Given the description of an element on the screen output the (x, y) to click on. 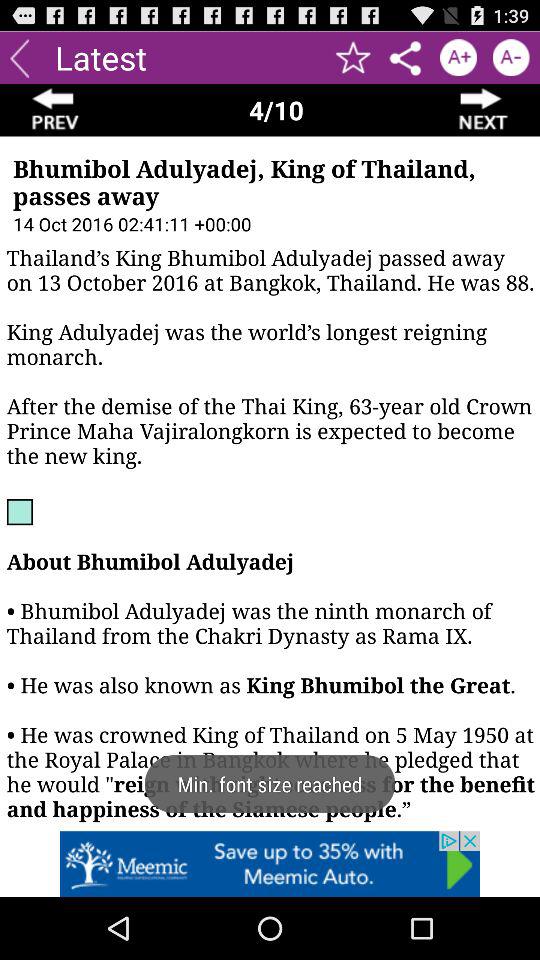
settiongs (405, 57)
